Given the description of an element on the screen output the (x, y) to click on. 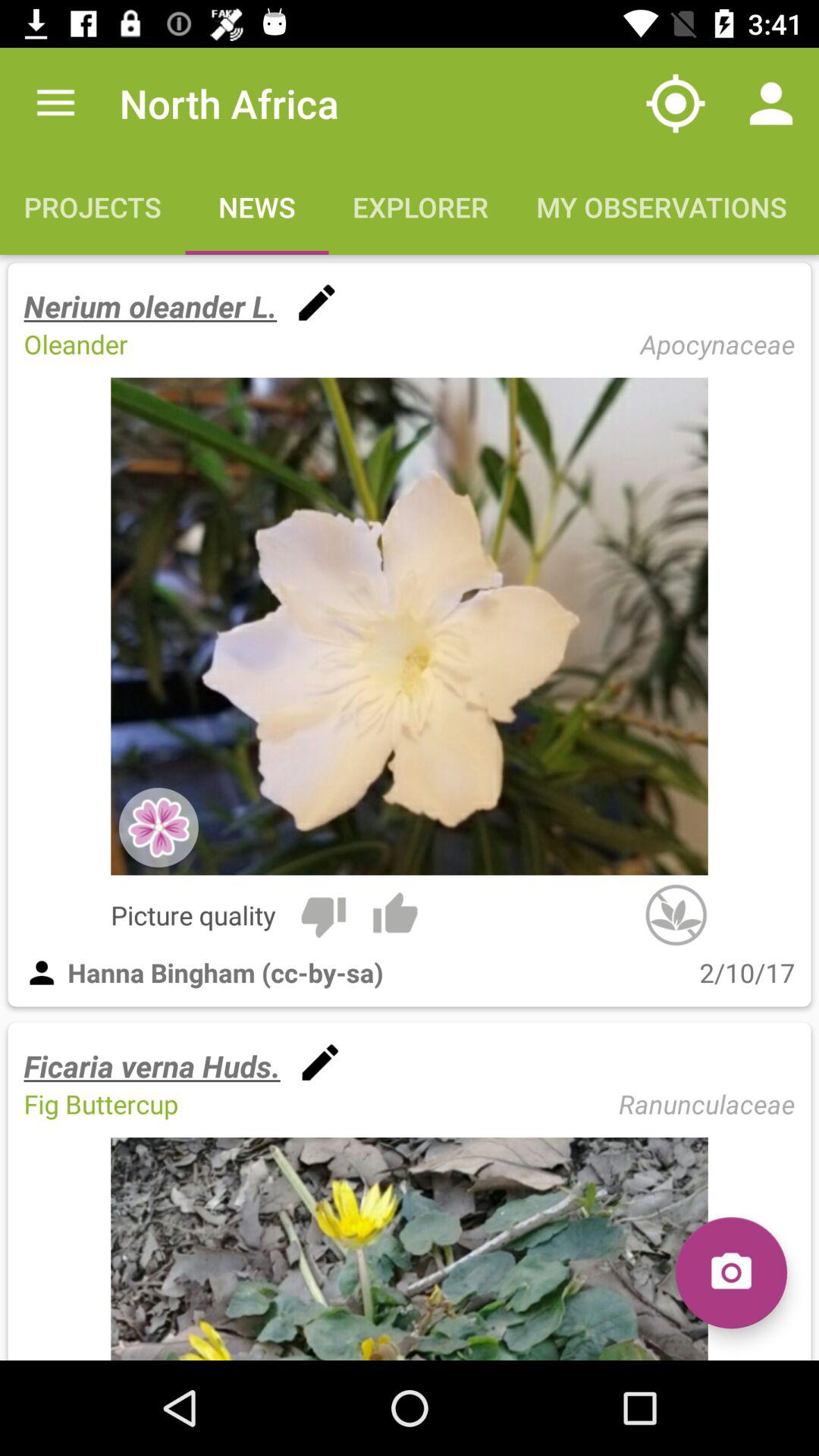
turn off item next to the picture quality item (323, 914)
